Given the description of an element on the screen output the (x, y) to click on. 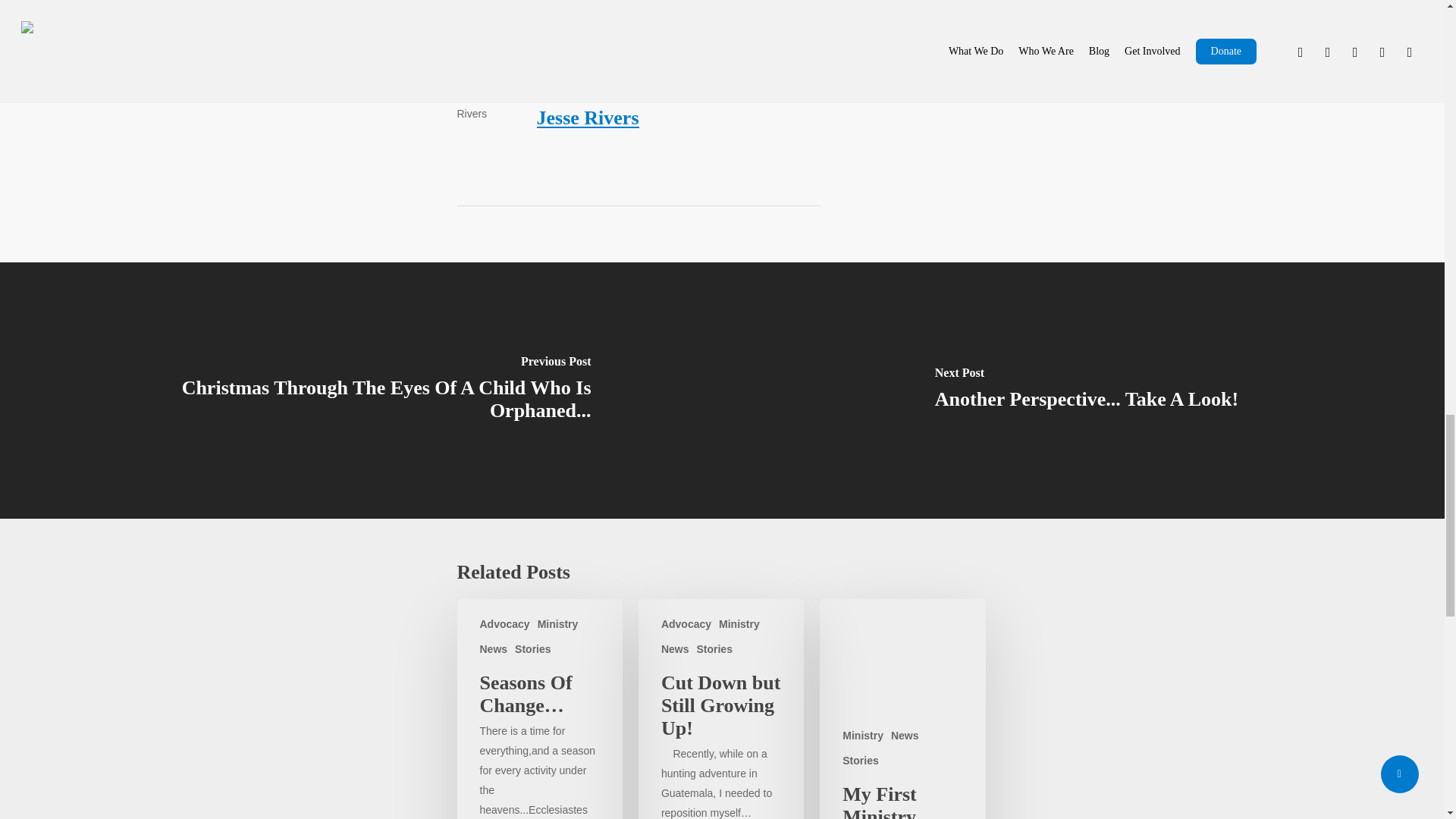
Twitter (484, 2)
Click to share on Twitter (484, 2)
Click to share on Facebook (550, 2)
Jesse Rivers (588, 117)
Click to share on LinkedIn (621, 2)
Facebook (550, 2)
LinkedIn (621, 2)
